Given the description of an element on the screen output the (x, y) to click on. 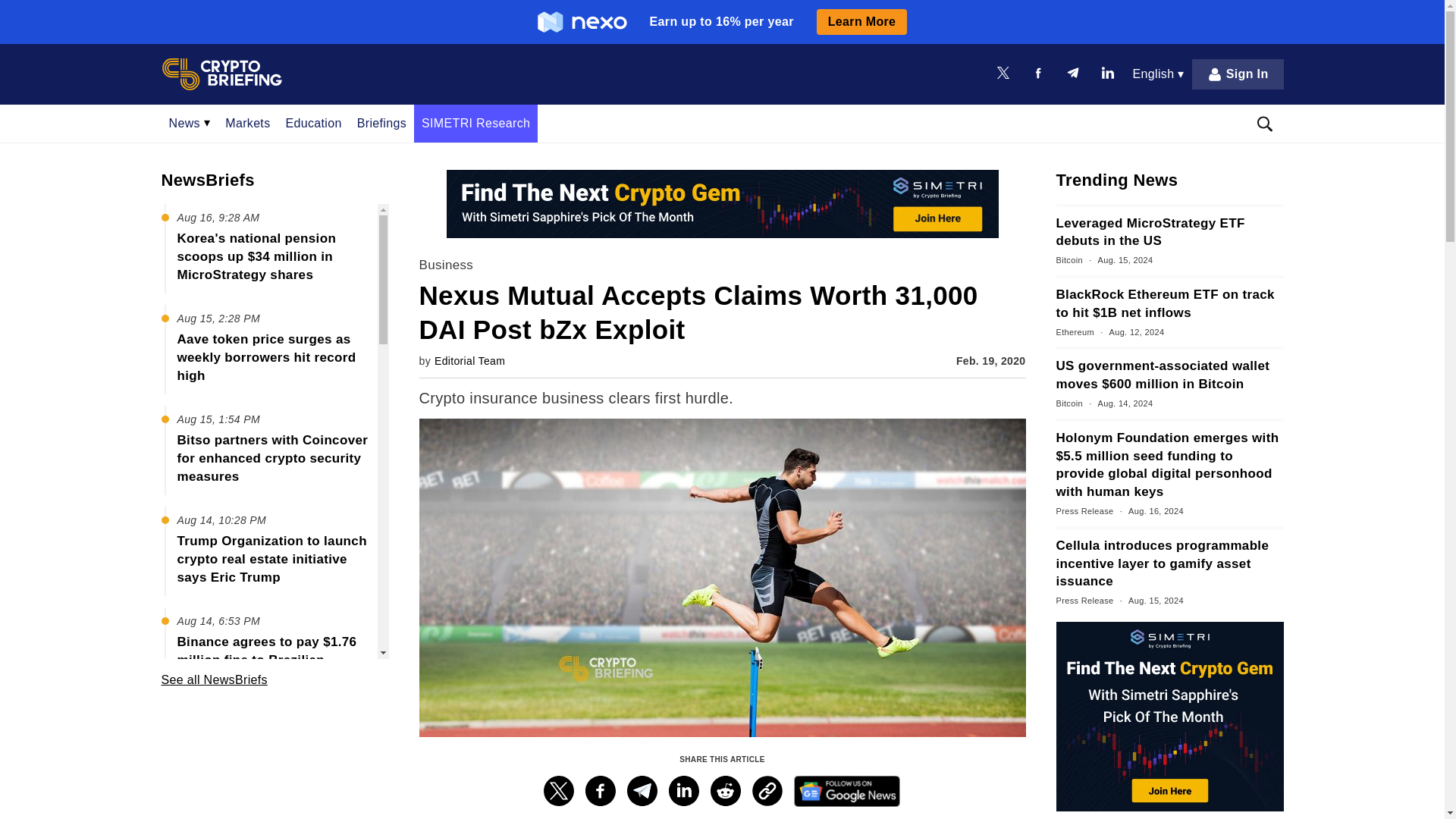
Learn More (861, 22)
Sign In (1238, 73)
Sign In (1238, 73)
News (188, 123)
